Given the description of an element on the screen output the (x, y) to click on. 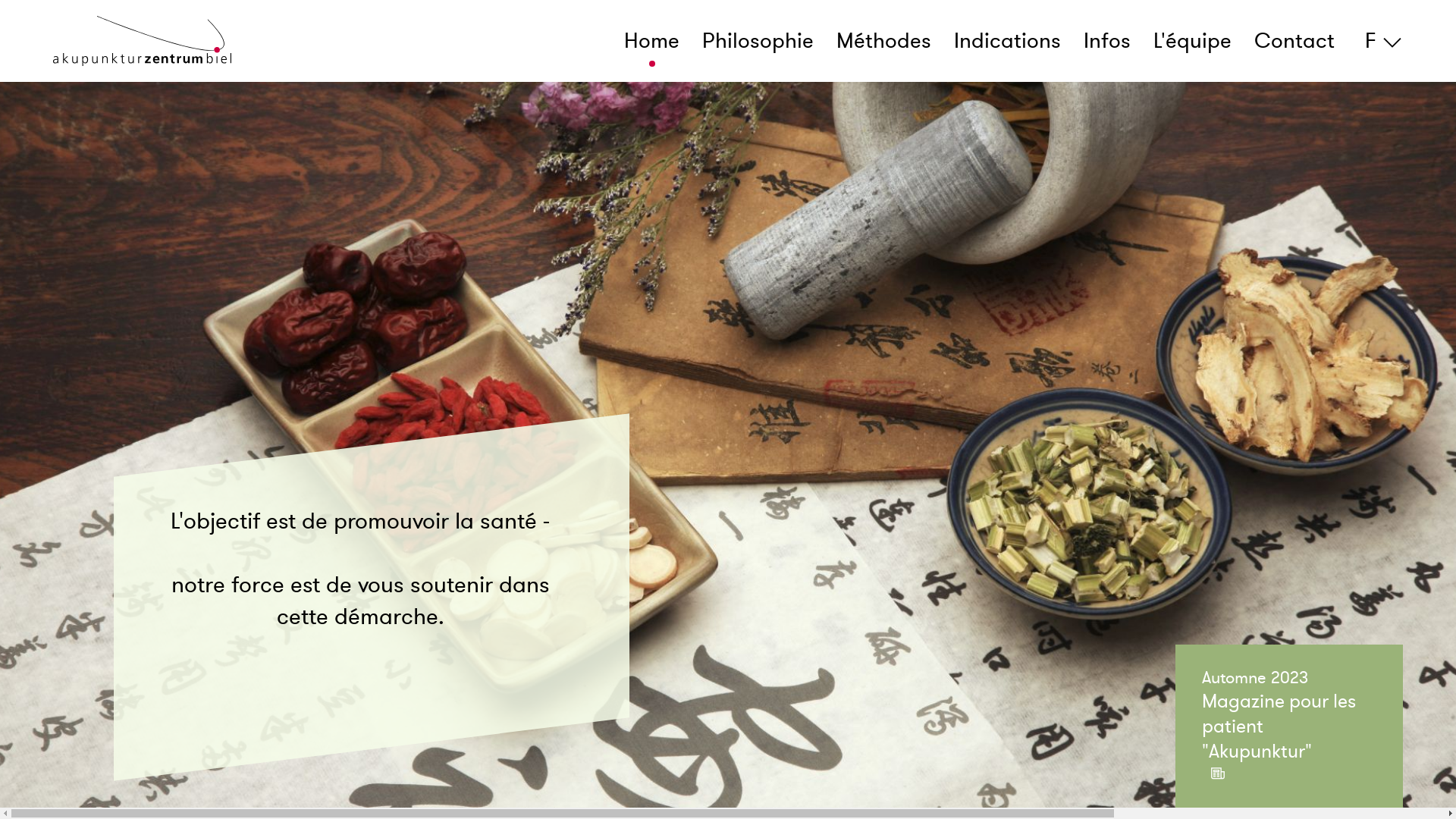
Contact Element type: text (1294, 41)
Home Element type: text (651, 41)
Infos Element type: text (1106, 41)
Philosophie Element type: text (757, 41)
F Element type: text (1379, 41)
Indications Element type: text (1006, 41)
